Given the description of an element on the screen output the (x, y) to click on. 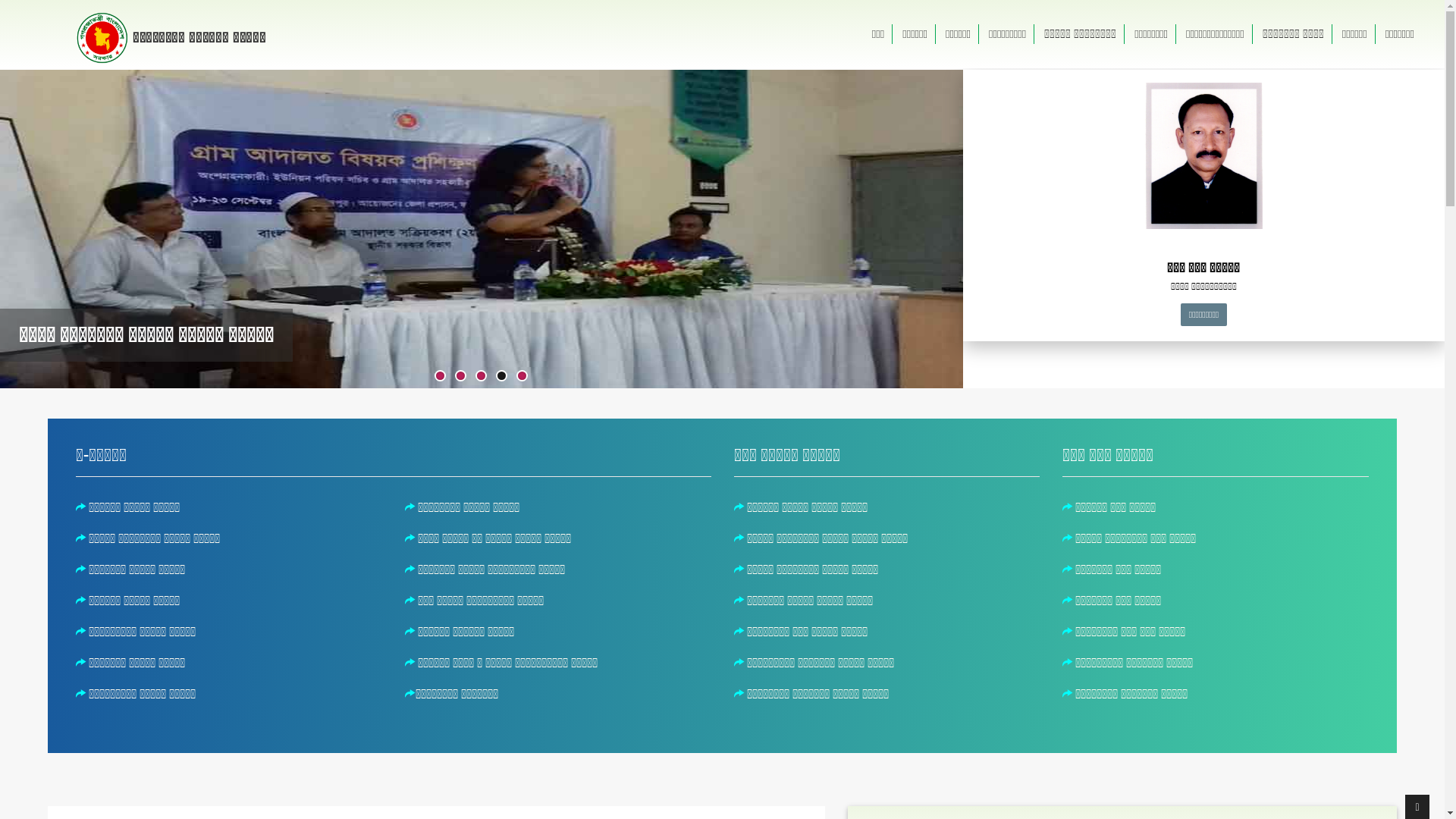
2 Element type: text (460, 375)
4 Element type: text (501, 375)
5 Element type: text (521, 375)
3 Element type: text (480, 375)
1 Element type: text (440, 375)
